Given the description of an element on the screen output the (x, y) to click on. 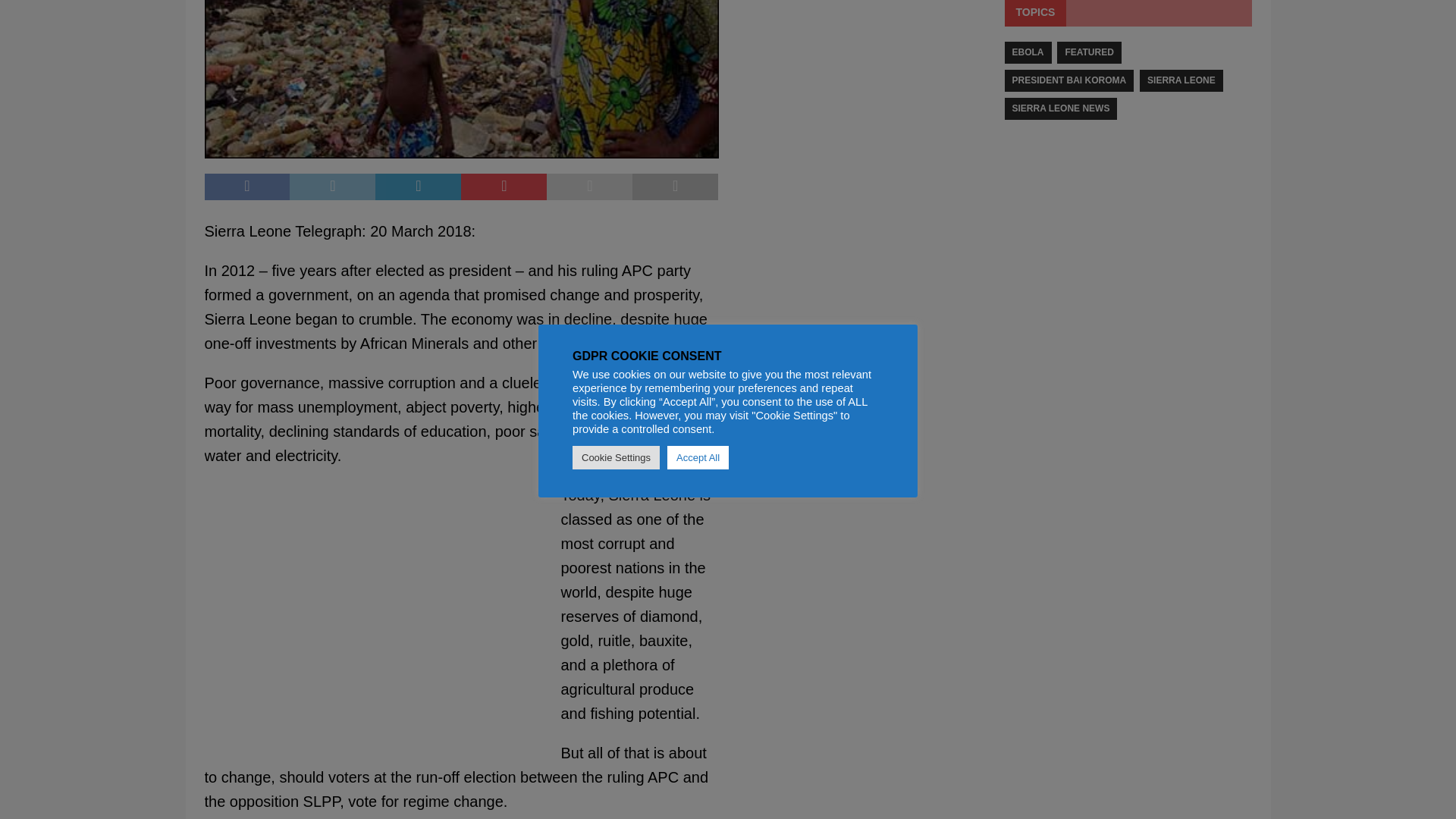
salone poverty2 (462, 79)
